Given the description of an element on the screen output the (x, y) to click on. 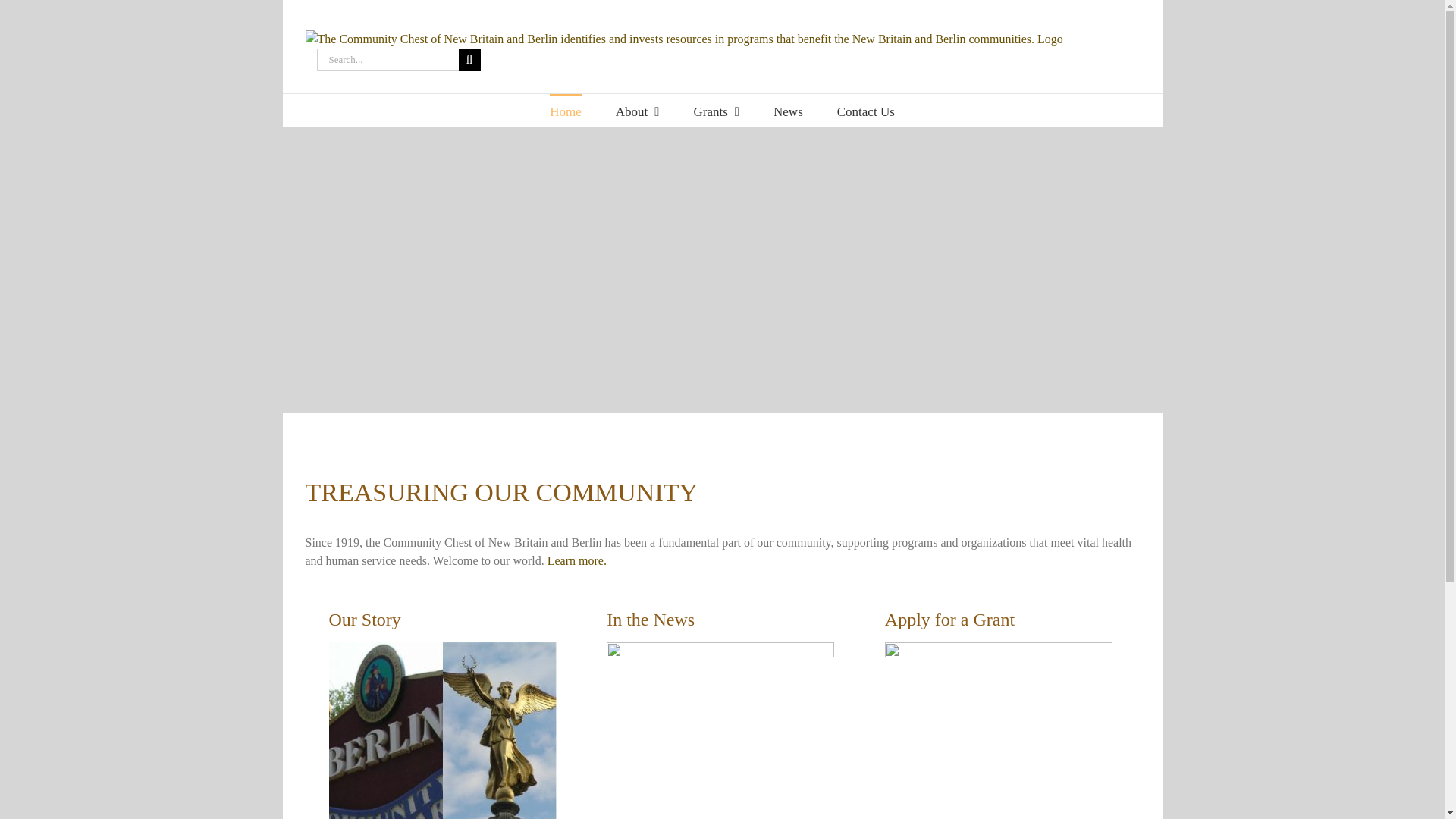
Home (565, 110)
Contact Us (866, 110)
Our Story (444, 619)
About (637, 110)
In the News (722, 619)
Grants (716, 110)
Apply for a Grant (1000, 619)
Learn more. (577, 560)
News (788, 110)
